Given the description of an element on the screen output the (x, y) to click on. 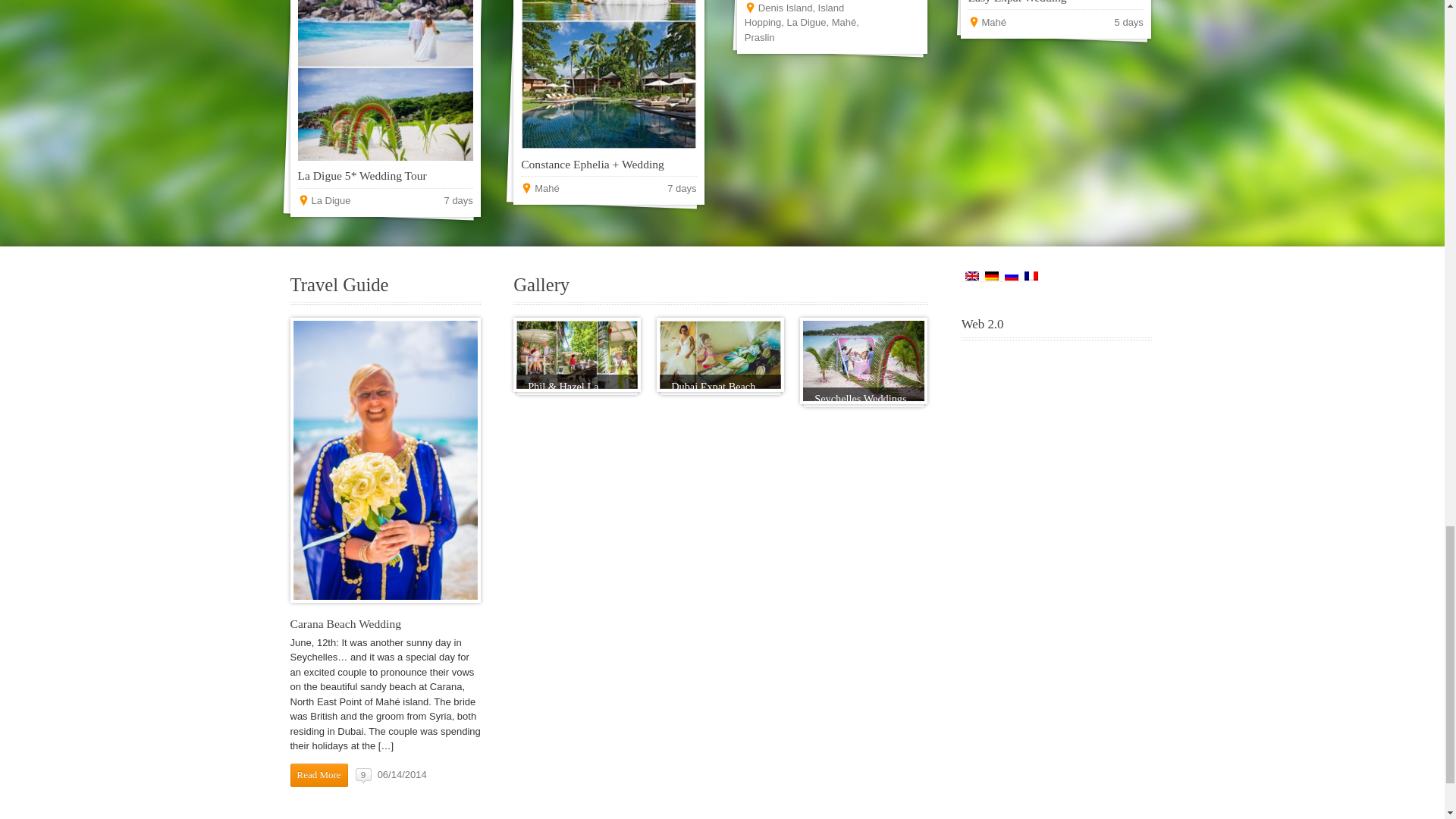
Read More (318, 775)
Carana Beach Wedding (345, 623)
Easy Expat Wedding (1017, 2)
